Given the description of an element on the screen output the (x, y) to click on. 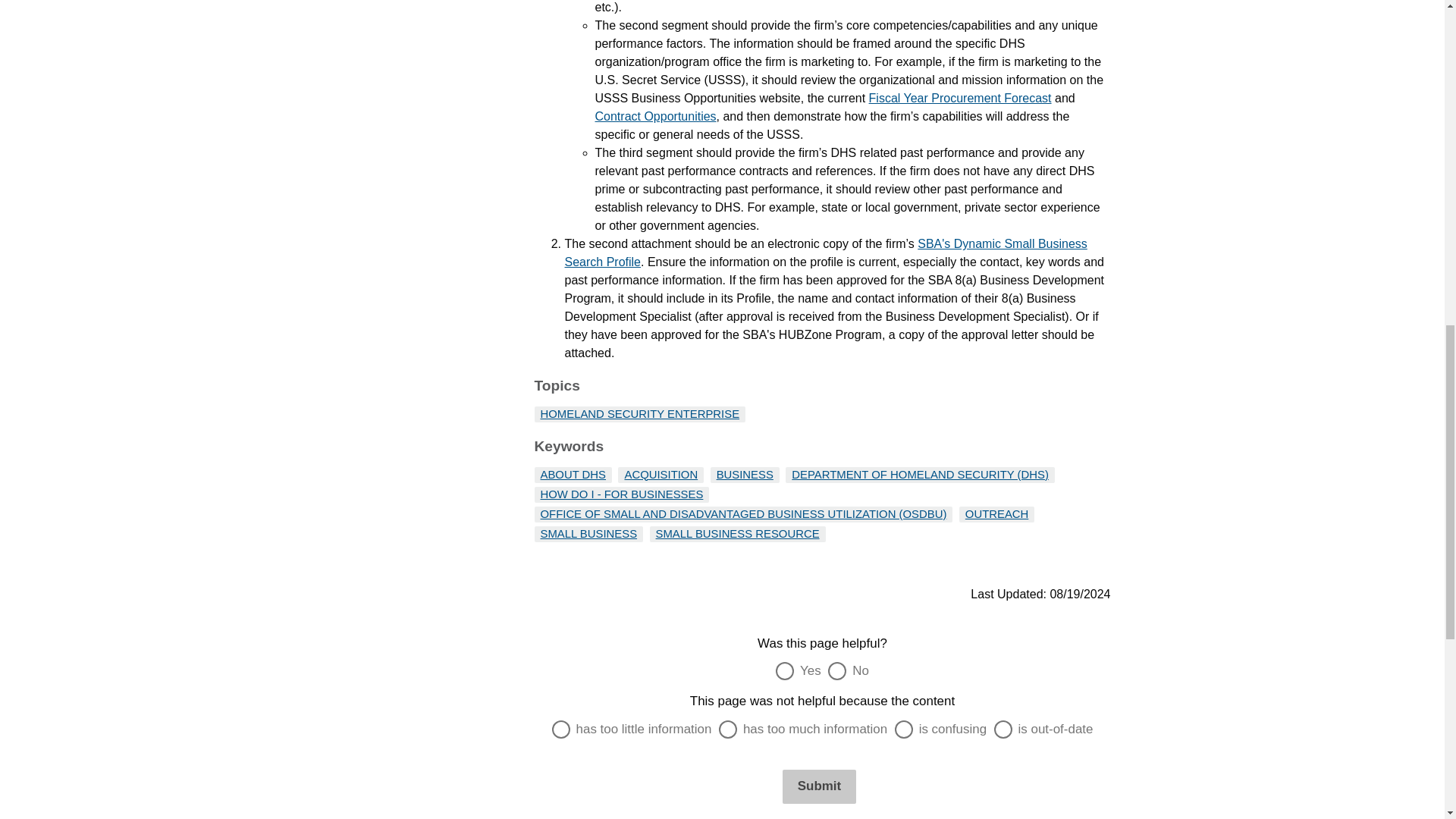
Fiscal Year Procurement Forecast (960, 97)
Submit (819, 786)
Contract Opportunities (655, 115)
BUSINESS (744, 474)
Fiscal Year Procurement Forecast (960, 97)
SBA's Dynamic Small Business Search Profile (825, 252)
HOW DO I - FOR BUSINESSES (621, 494)
HOMELAND SECURITY ENTERPRISE (639, 413)
ABOUT DHS (572, 474)
OUTREACH (996, 513)
